Given the description of an element on the screen output the (x, y) to click on. 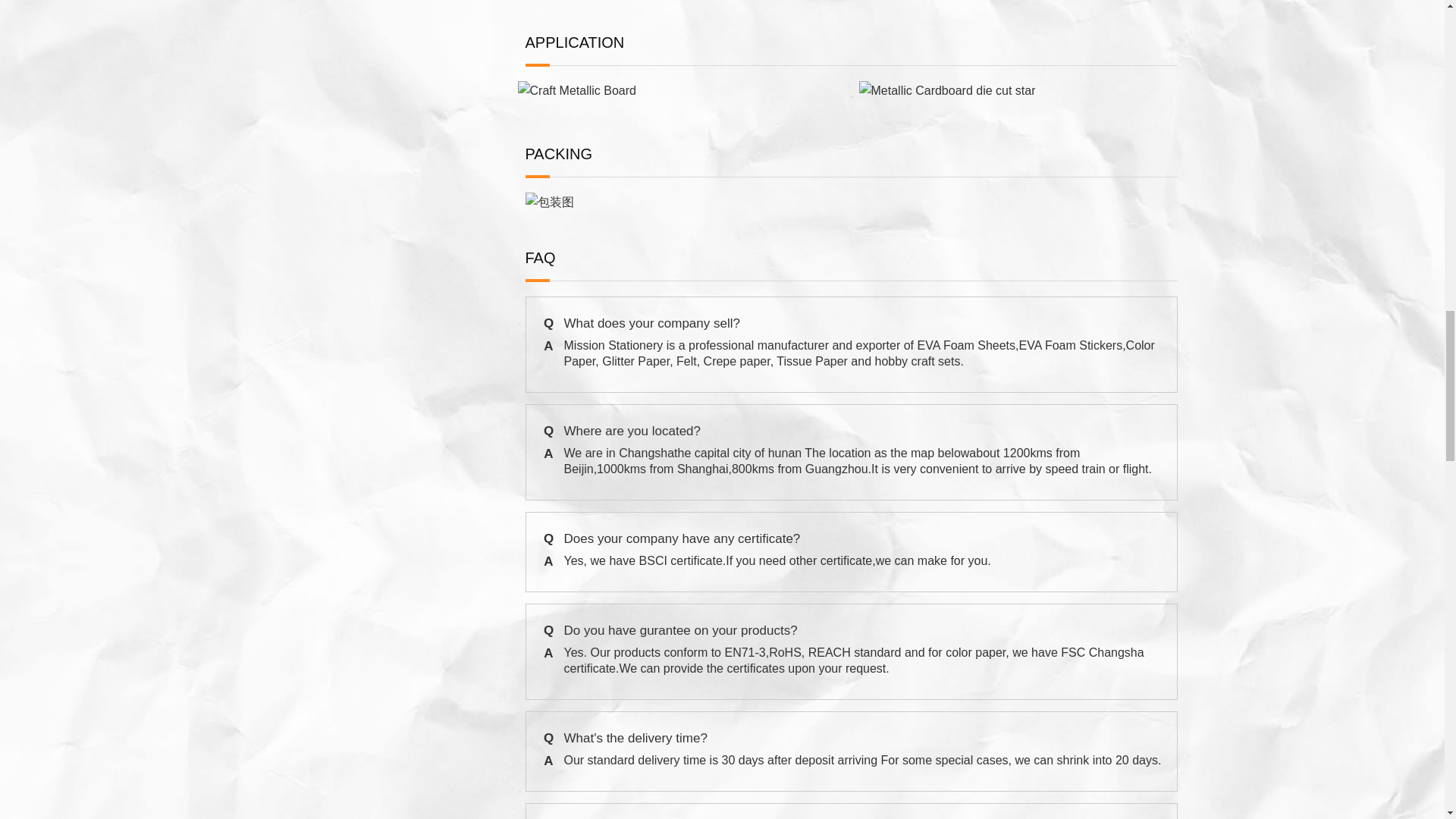
Craft Metallic Board (576, 90)
Metallic Cardboard die cut star (947, 90)
